Given the description of an element on the screen output the (x, y) to click on. 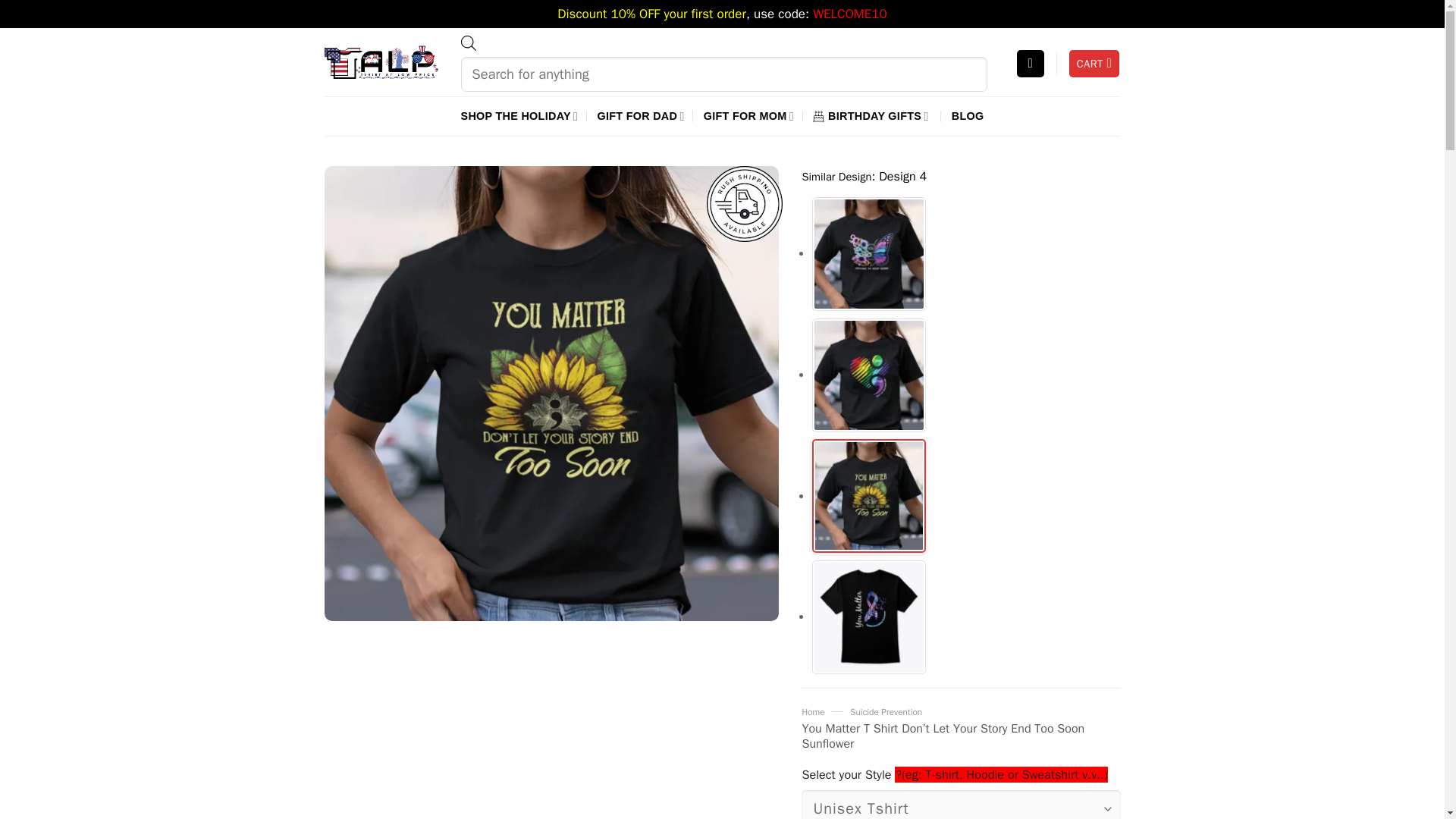
BIRTHDAY GIFTS (872, 115)
CART (1093, 63)
GIFT FOR MOM (748, 115)
SHOP THE HOLIDAY (519, 115)
Cart (1093, 63)
You Matter T Shirt Choose To Keep Going Butterfly Semicolon (869, 252)
You Matter T Shirt Don't Let Your Story End Heart Semicolon (869, 374)
GIFT FOR DAD (640, 115)
